Given the description of an element on the screen output the (x, y) to click on. 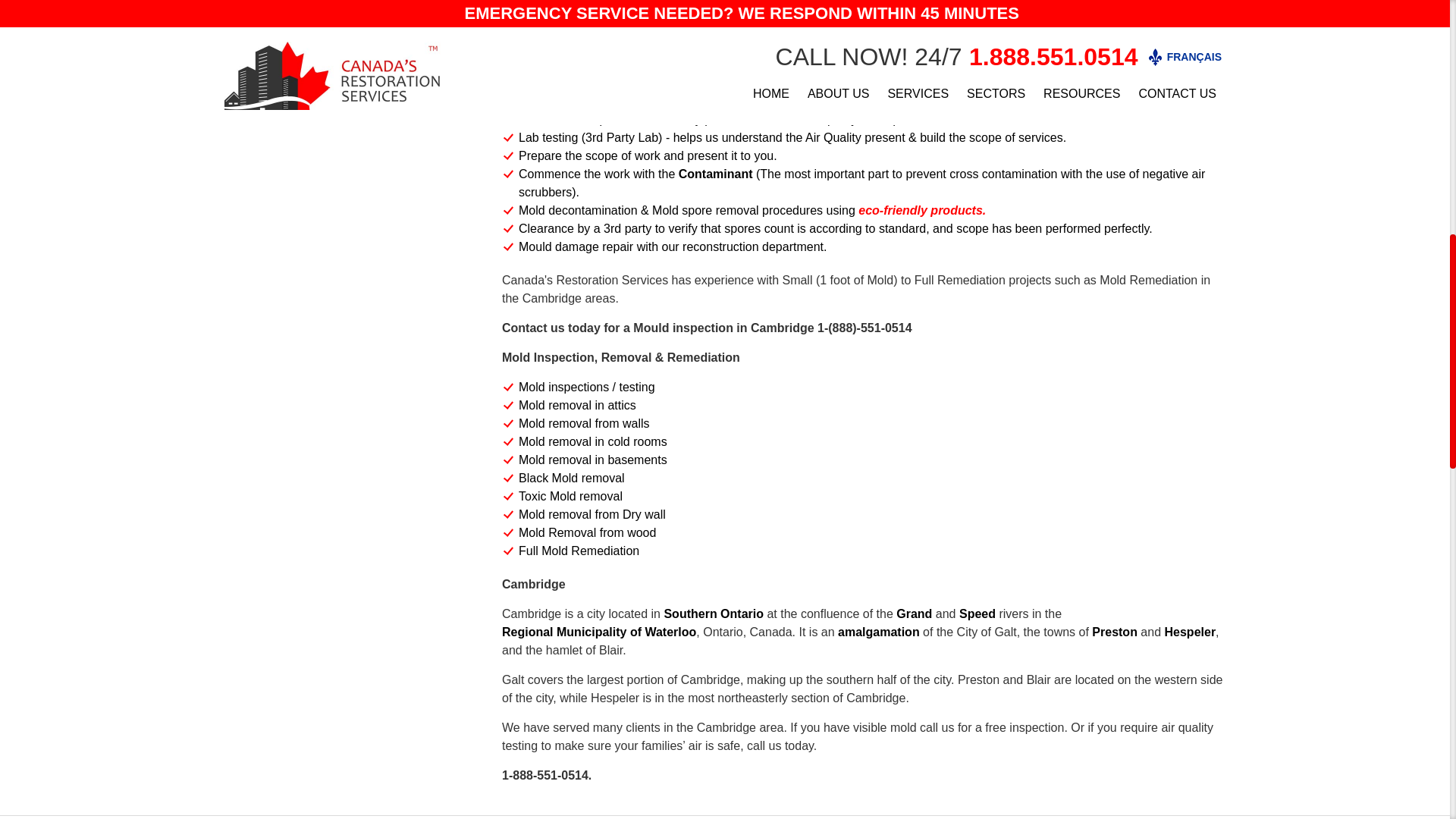
Preston, Ontario (1114, 632)
Speed River (977, 614)
Waterloo Regional Municipality, Ontario (598, 632)
Southern Ontario (712, 614)
Hespeler, Ontario (1189, 632)
